Given the description of an element on the screen output the (x, y) to click on. 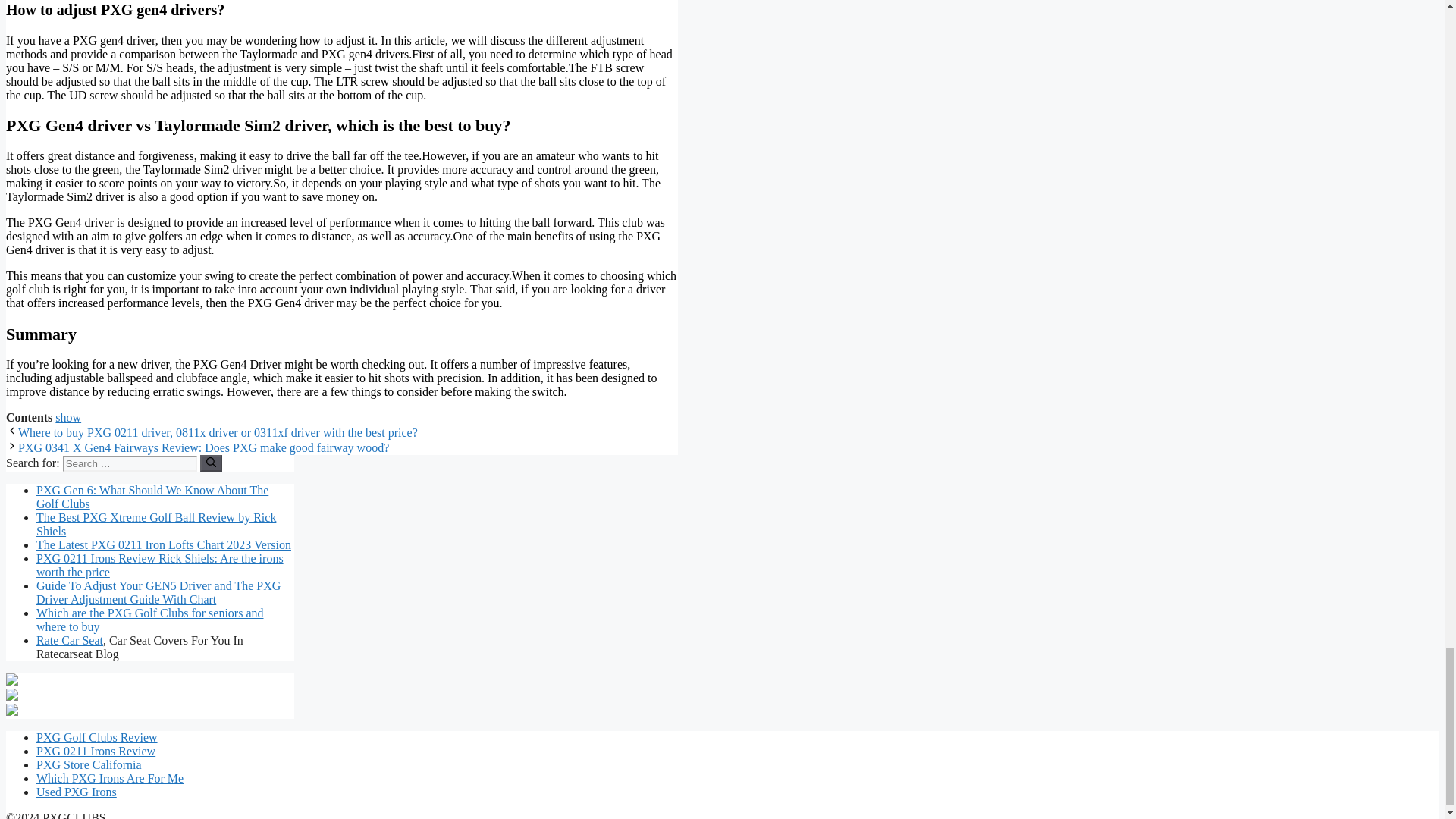
Search for: (129, 463)
